Given the description of an element on the screen output the (x, y) to click on. 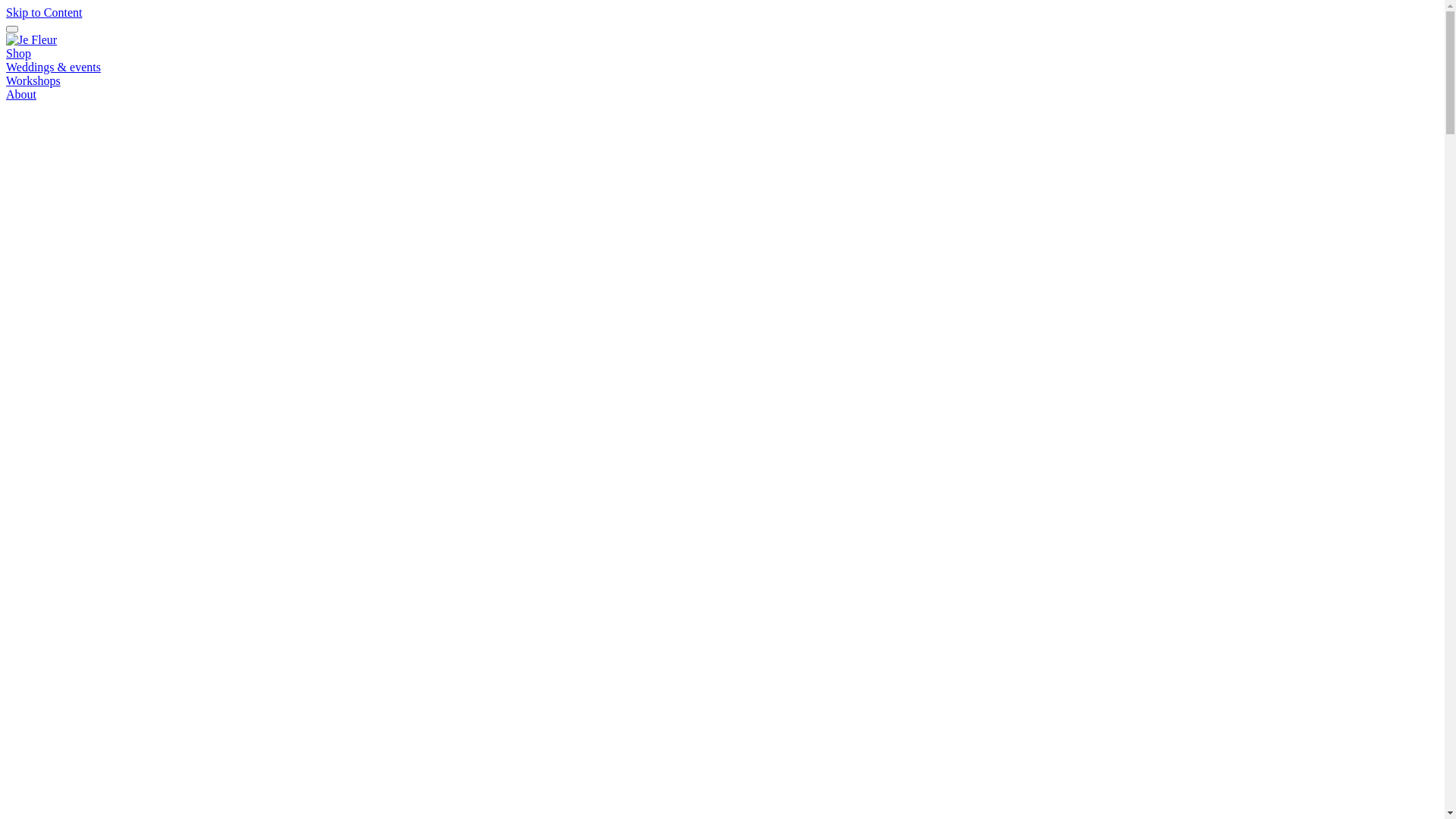
Shop Element type: text (18, 53)
Skip to Content Element type: text (43, 12)
Weddings & events Element type: text (53, 66)
Workshops Element type: text (33, 80)
About Element type: text (21, 93)
